Given the description of an element on the screen output the (x, y) to click on. 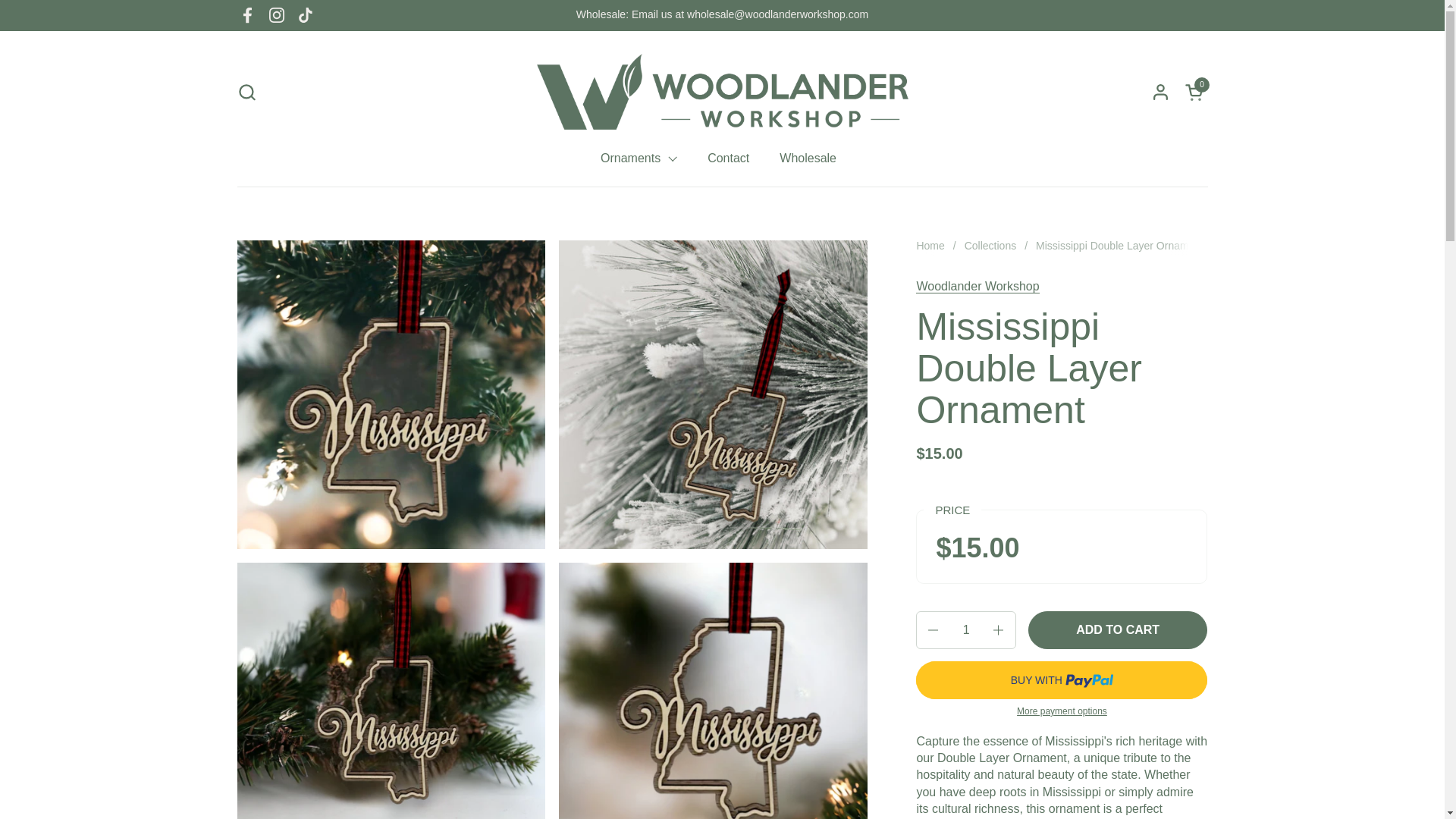
Woodlander Workshop (977, 286)
Woodlander Workshop (721, 91)
Instagram (276, 14)
Open search (245, 90)
Open cart (1196, 90)
Facebook (247, 14)
TikTok (1196, 90)
Ornaments (305, 14)
